Given the description of an element on the screen output the (x, y) to click on. 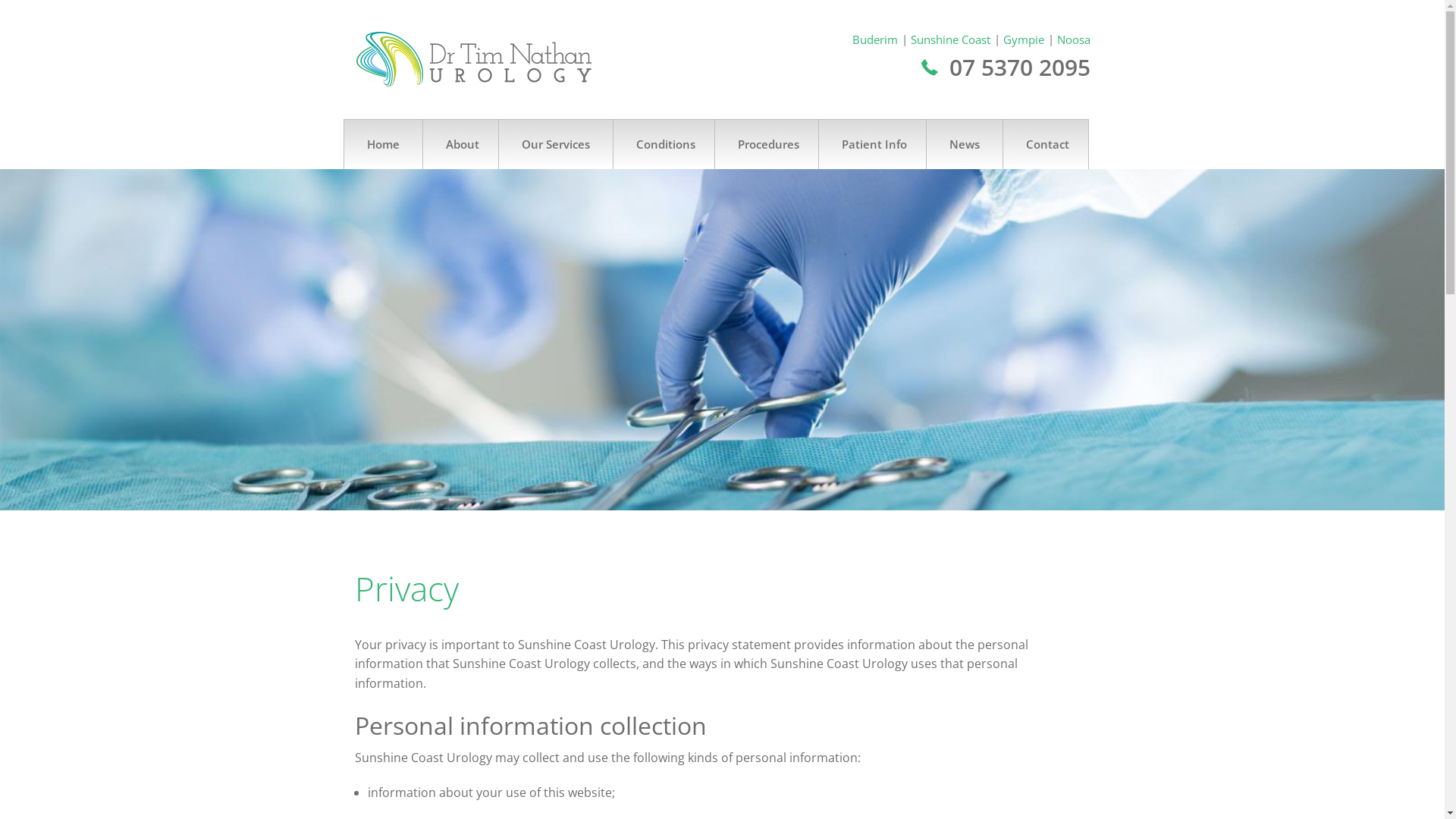
The Penis Element type: text (801, 275)
Sunshine Coast Element type: text (956, 39)
The Scrotum and Testes Element type: text (801, 359)
The Bladder Element type: text (801, 190)
The Prostate Element type: text (699, 317)
Our Team Element type: text (508, 232)
Resources Element type: text (904, 317)
The Bladder Element type: text (699, 190)
Patient Info Element type: text (871, 144)
The Prostate Element type: text (801, 317)
TeleHealth Element type: text (904, 275)
The Urethra Element type: text (801, 402)
Our Practice Element type: text (508, 190)
Your Visit Element type: text (904, 190)
Procedures Element type: text (766, 144)
The Urethra Element type: text (699, 402)
Fees and Payment Element type: text (904, 232)
The Kidney and Ureter Element type: text (699, 232)
News Element type: text (963, 144)
Buderim Element type: text (881, 39)
Home Element type: text (381, 144)
Skip to main content Element type: text (59, 0)
Gympie Element type: text (1029, 39)
Contact Element type: text (1045, 144)
About Element type: text (459, 144)
The Kidney and Ureter Element type: text (801, 232)
Locations Element type: text (1001, 232)
The Scrotum and Testes Element type: text (699, 359)
Our Services Element type: text (554, 144)
07 5370 2095 Element type: text (1004, 67)
Contact Us Element type: text (1001, 190)
Noosa Element type: text (1073, 39)
Frequently Asked Questions Element type: text (904, 359)
The Penis Element type: text (699, 275)
Conditions Element type: text (663, 144)
